Given the description of an element on the screen output the (x, y) to click on. 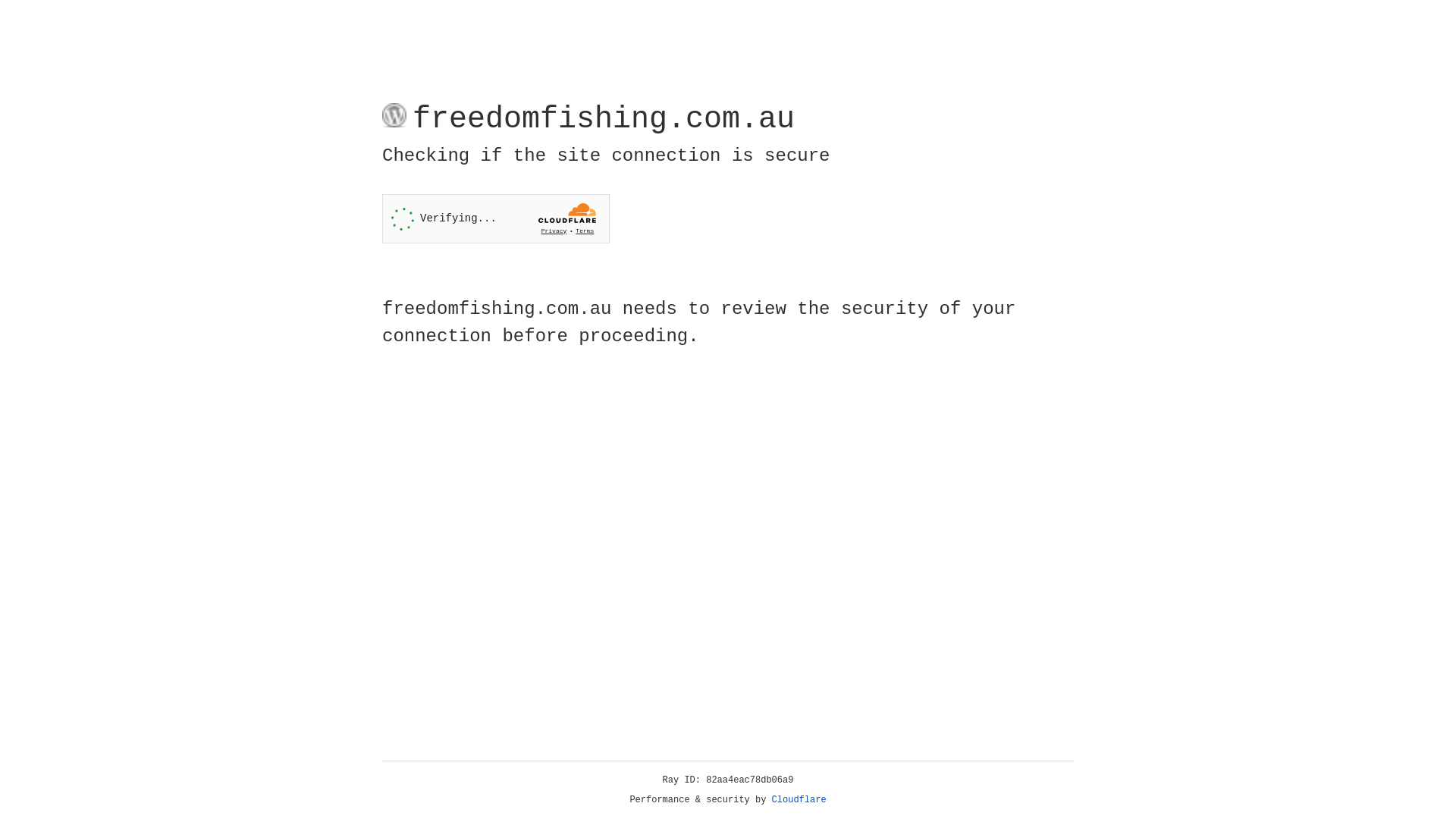
Widget containing a Cloudflare security challenge Element type: hover (495, 218)
Cloudflare Element type: text (798, 799)
